Given the description of an element on the screen output the (x, y) to click on. 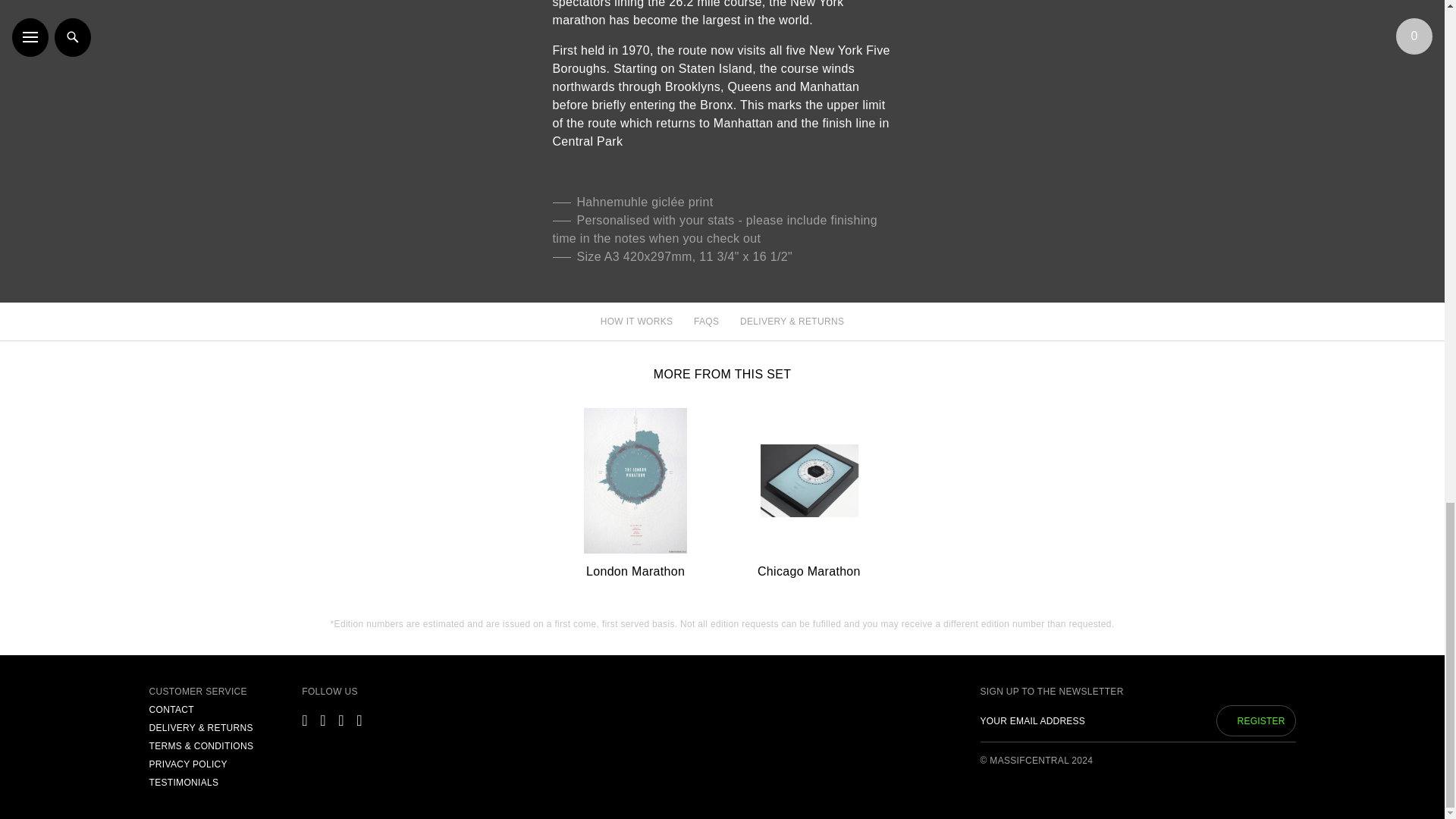
TESTIMONIALS (183, 783)
PRIVACY POLICY (187, 765)
HOW IT WORKS (635, 321)
CONTACT (170, 710)
Register (1255, 720)
FAQS (706, 321)
